Given the description of an element on the screen output the (x, y) to click on. 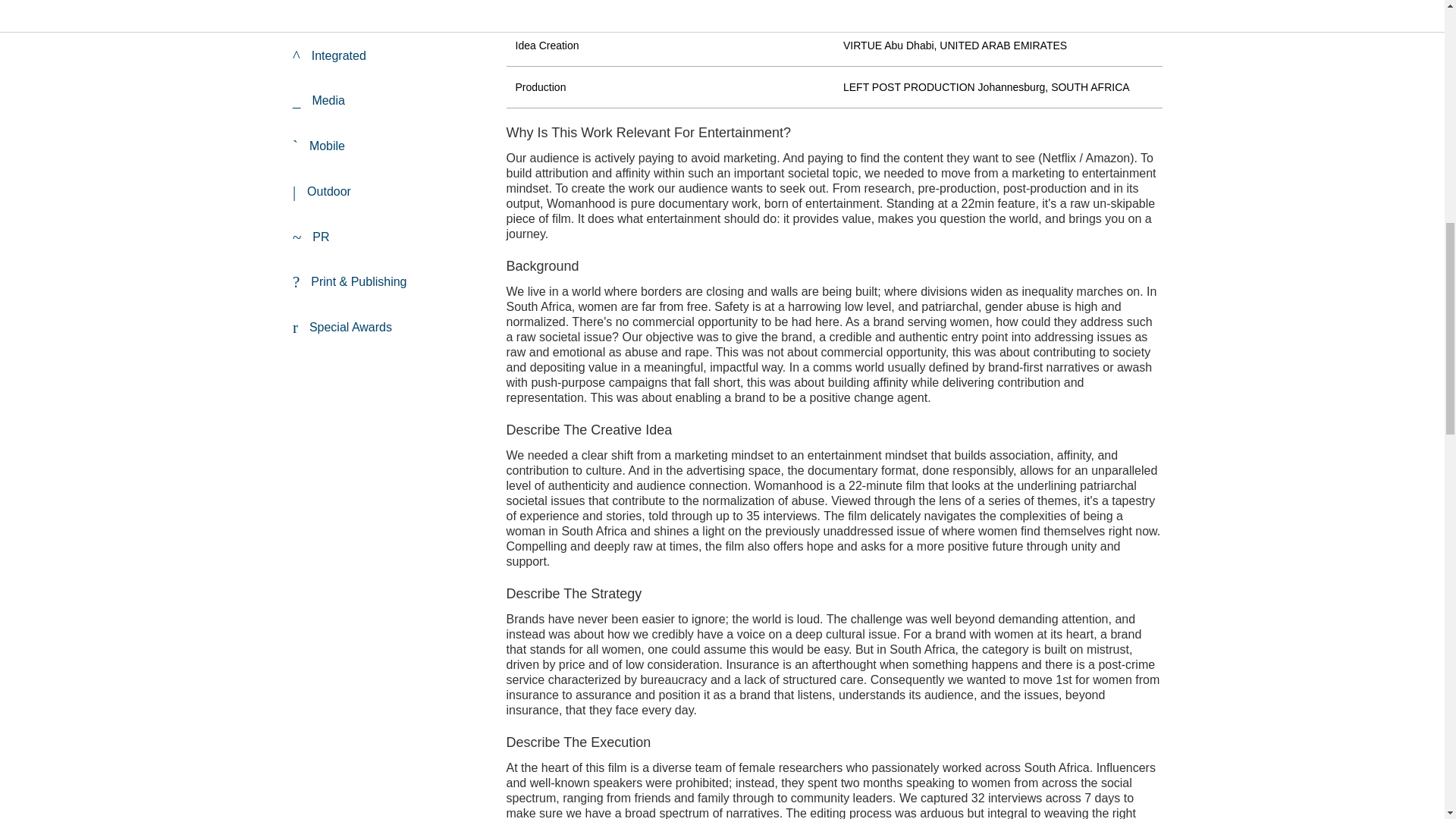
Mobile (386, 146)
Integrated (386, 56)
Media (386, 101)
Mobile (386, 146)
PR (386, 237)
Industry Craft (386, 15)
Integrated (386, 56)
PR (386, 237)
Special Awards (386, 327)
Outdoor (386, 191)
Outdoor (386, 191)
Industry Craft (386, 15)
Media (386, 101)
